Given the description of an element on the screen output the (x, y) to click on. 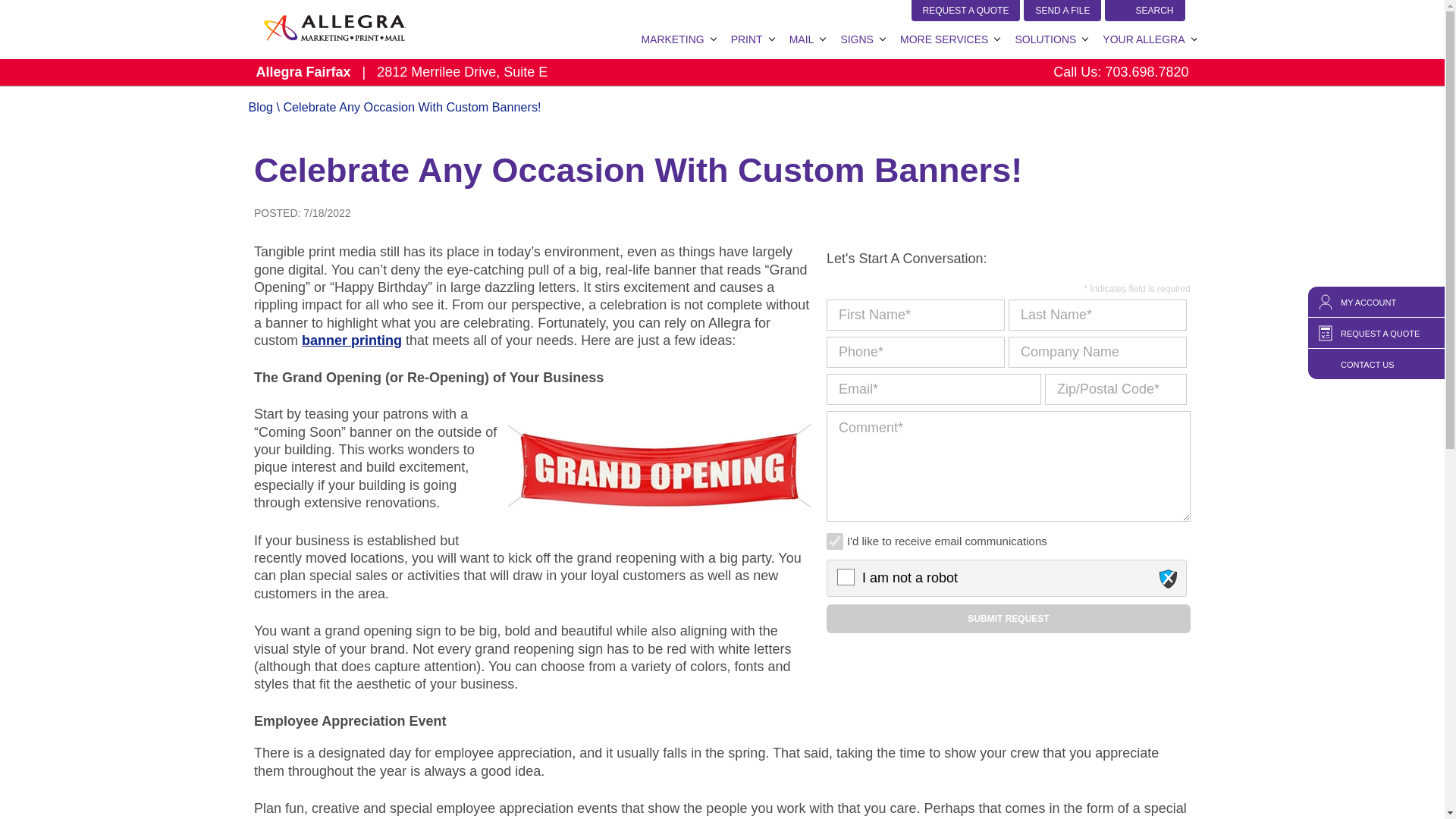
PRINT (746, 39)
MARKETING (671, 39)
Submit Request (1009, 618)
REQUEST A QUOTE (965, 10)
SEARCH (1145, 10)
1 (835, 541)
SEND A FILE (1061, 10)
